Given the description of an element on the screen output the (x, y) to click on. 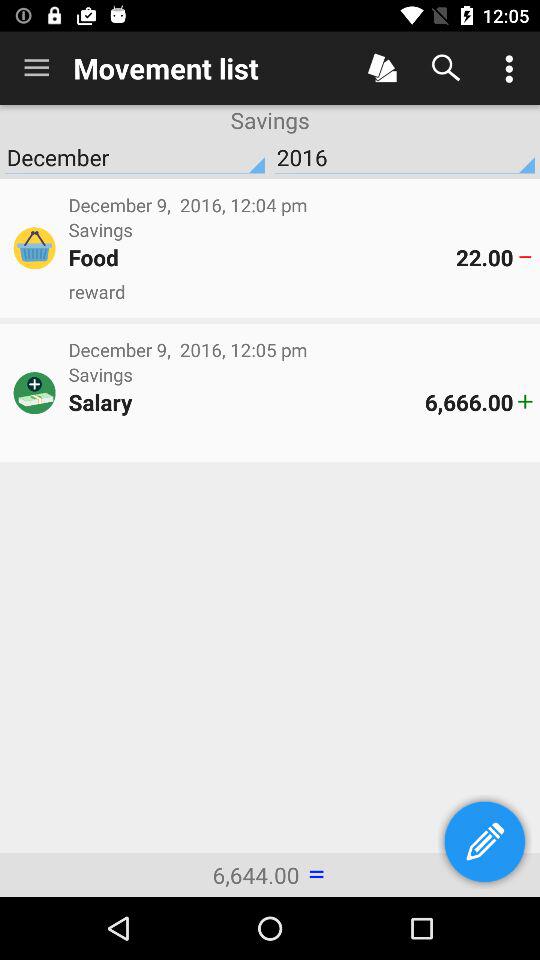
turn on reward (300, 291)
